Given the description of an element on the screen output the (x, y) to click on. 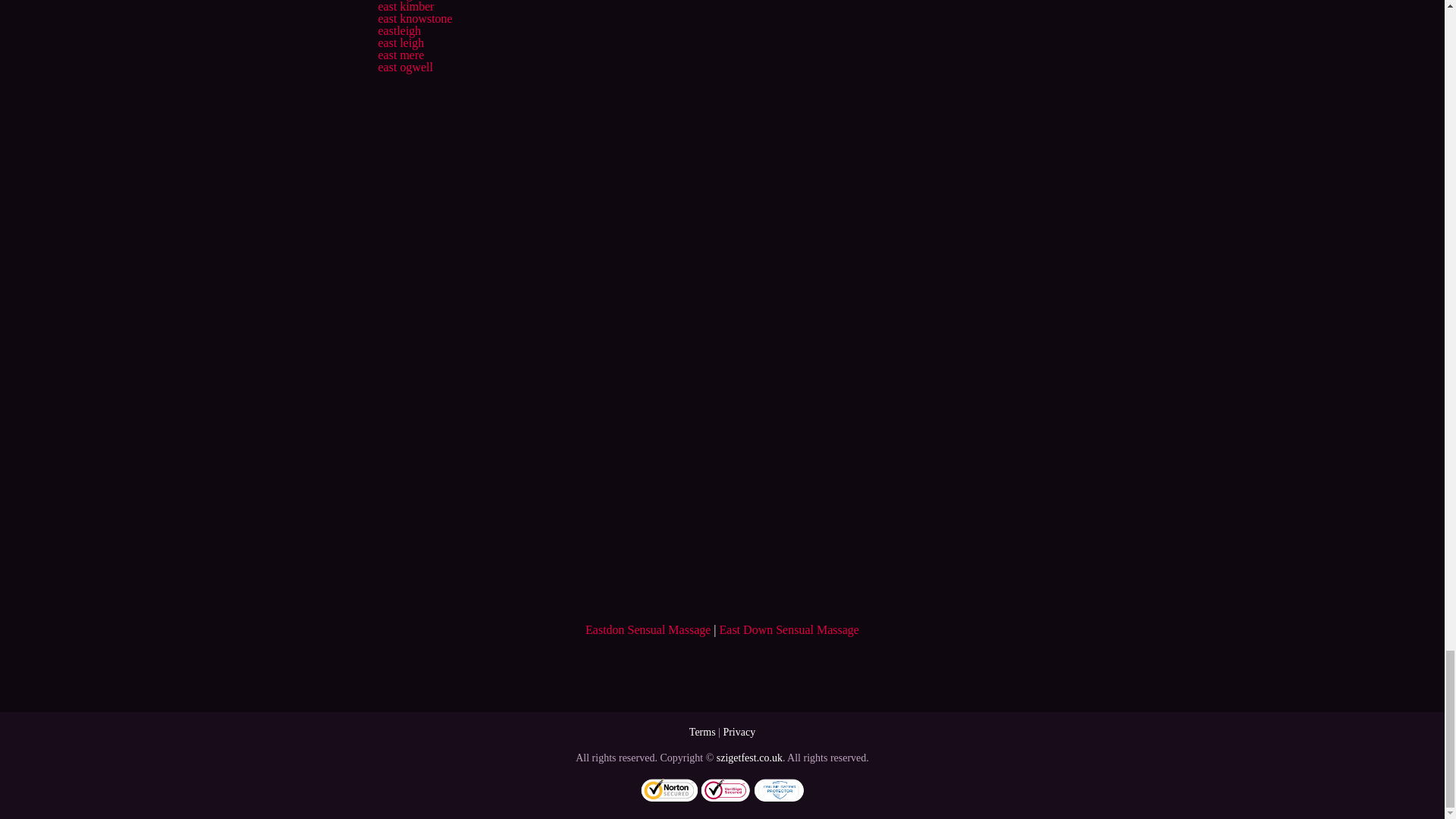
Privacy (738, 731)
Terms (702, 731)
East Down Sensual Massage (789, 629)
Privacy (738, 731)
east ogwell (404, 66)
Terms (702, 731)
east knowstone (414, 18)
east leigh (400, 42)
eastleigh (398, 30)
szigetfest.co.uk (749, 757)
Eastdon Sensual Massage (647, 629)
east mere (400, 54)
eastington (402, 0)
east kimber (405, 6)
